Given the description of an element on the screen output the (x, y) to click on. 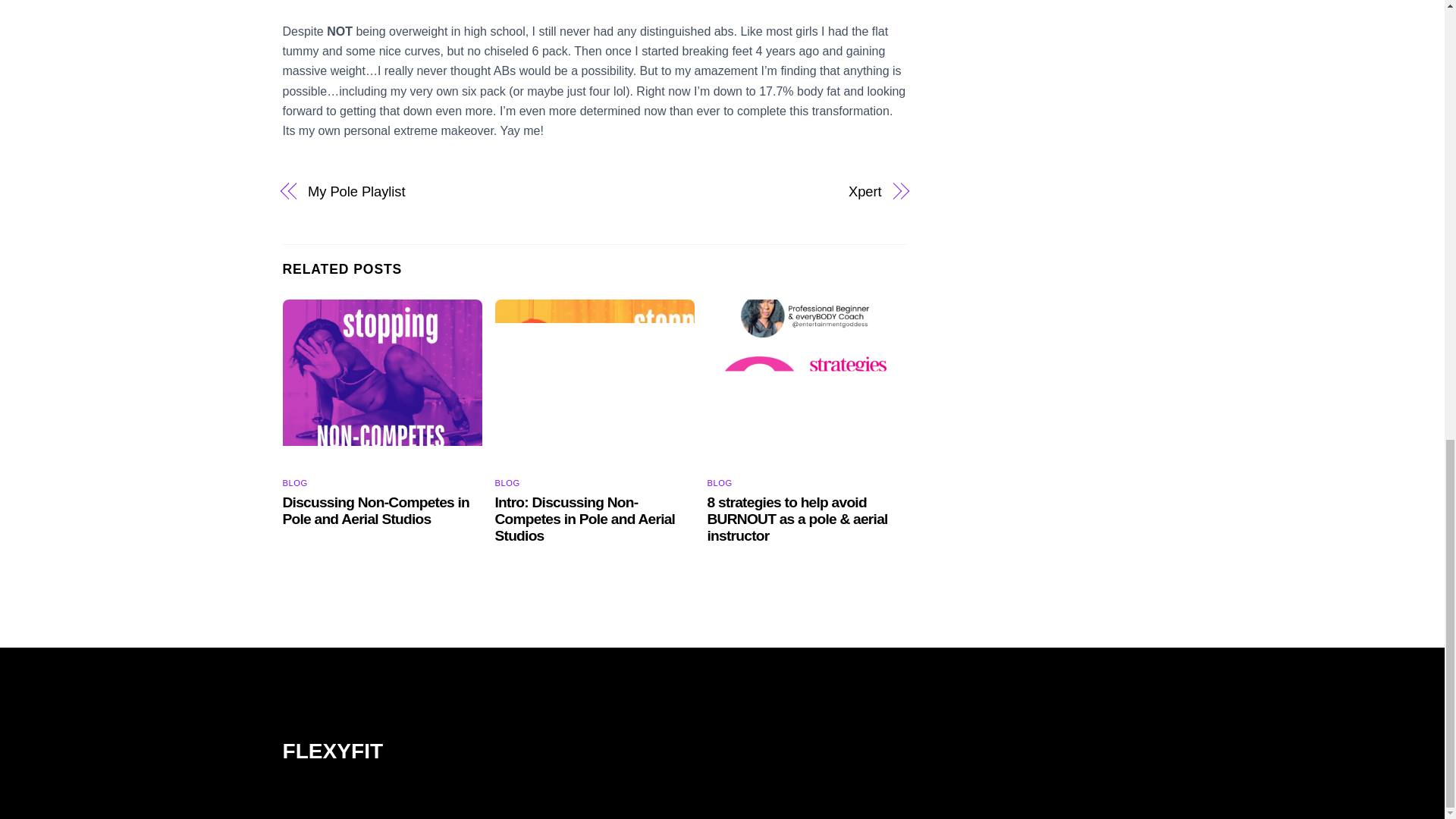
BLOG (507, 482)
non-competes-2 (595, 382)
Discussing Non-Competes in Pole and Aerial Studios (375, 510)
FLEXYFIT (721, 780)
FlexyFit (332, 750)
BLOG (719, 482)
BLOG (294, 482)
Xpert (746, 191)
non-competes - 9 (381, 382)
1 (807, 382)
